Given the description of an element on the screen output the (x, y) to click on. 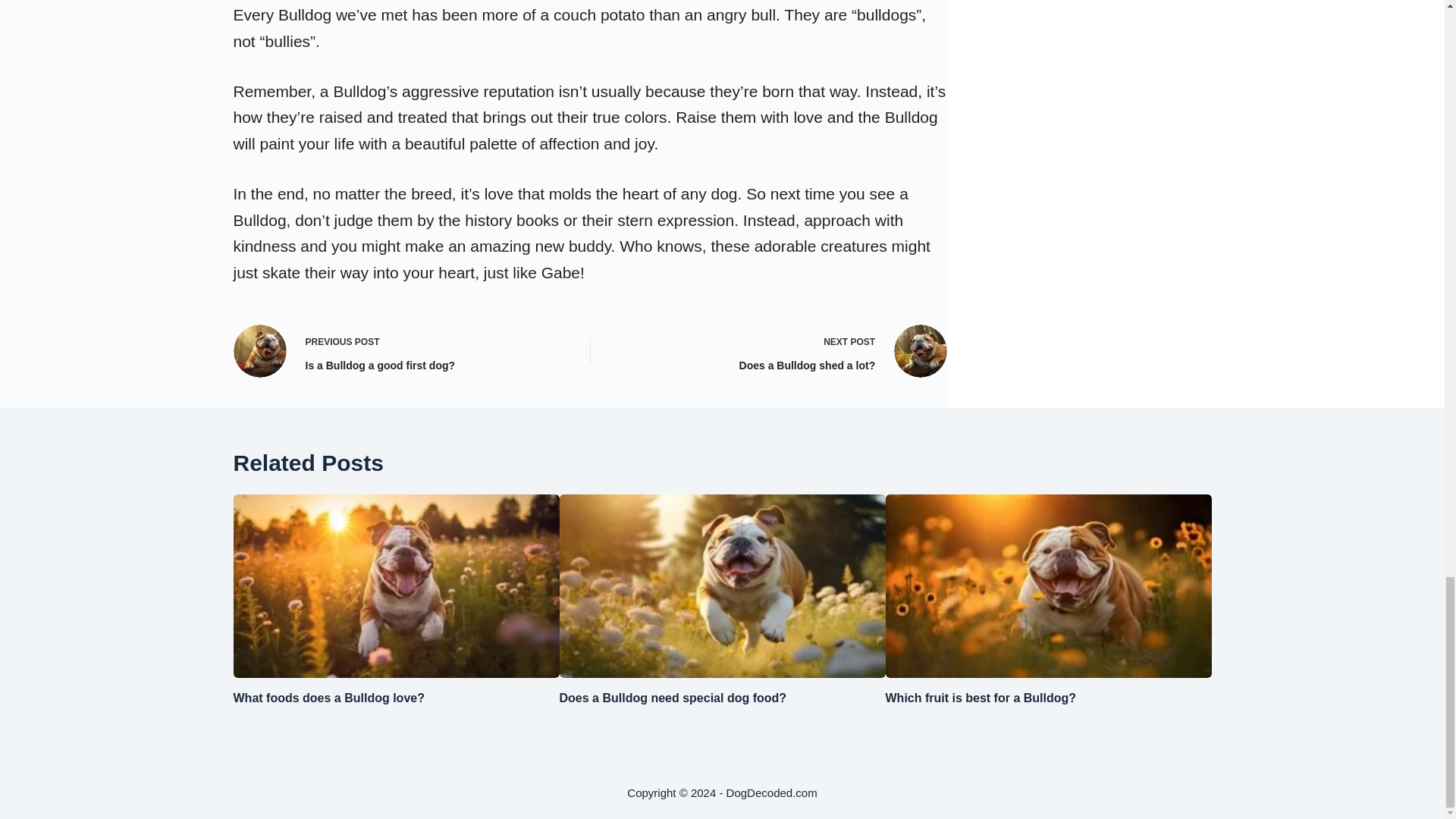
Which fruit is best for a Bulldog? (981, 697)
What foods does a Bulldog love? (397, 350)
Does a Bulldog need special dog food? (328, 697)
